Given the description of an element on the screen output the (x, y) to click on. 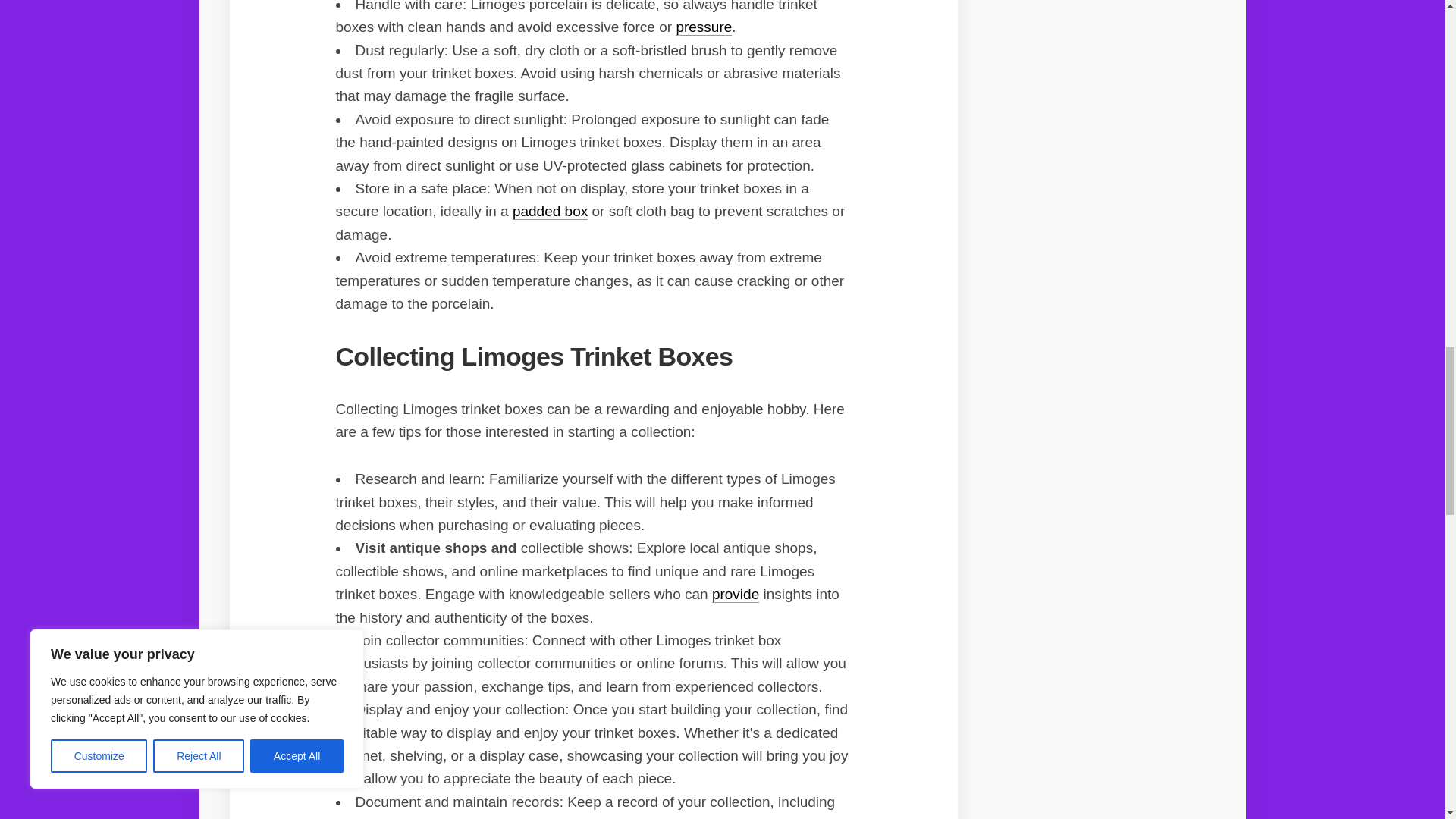
provide (734, 593)
pressure (703, 26)
padded box (550, 211)
